Given the description of an element on the screen output the (x, y) to click on. 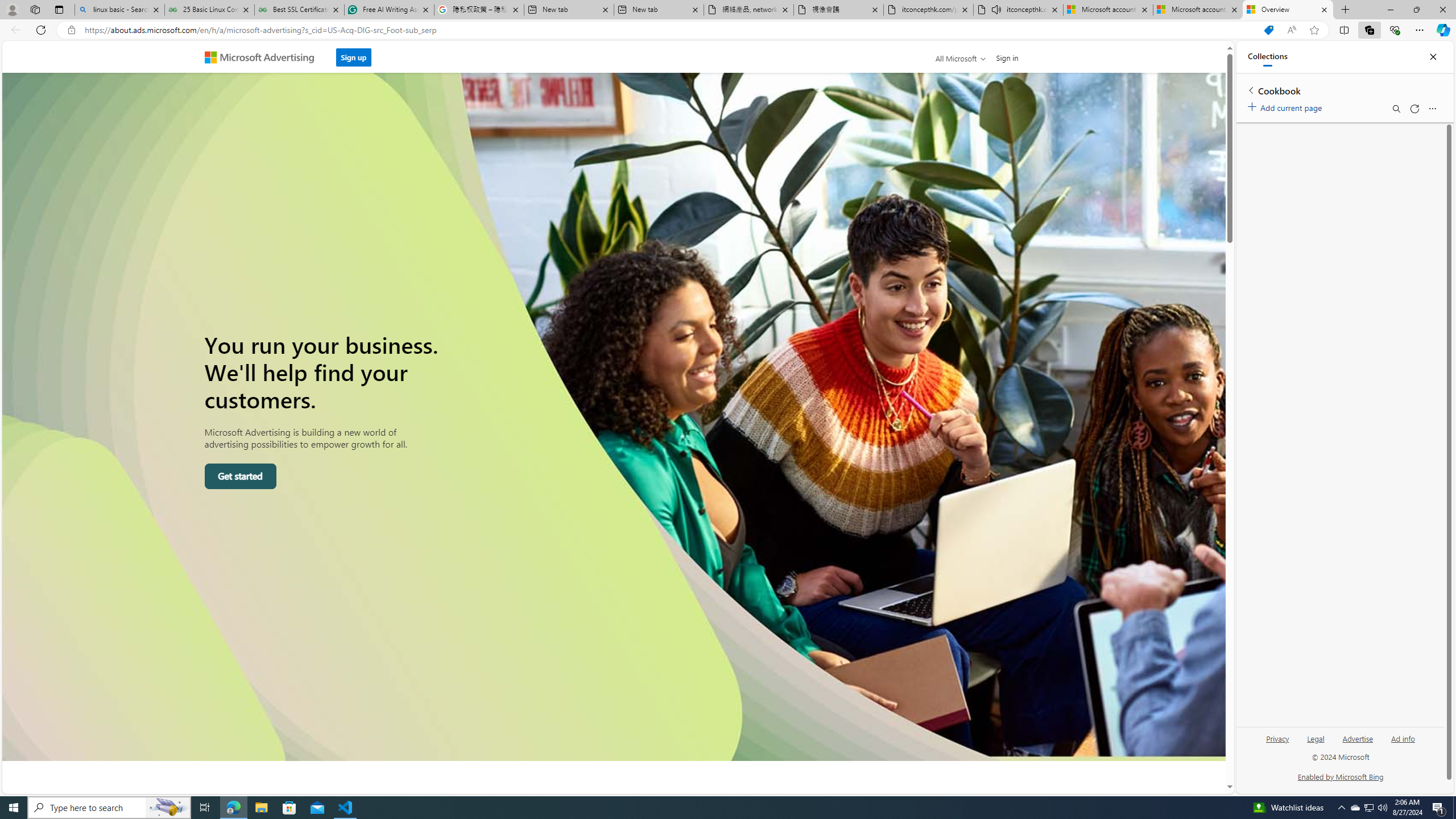
Overview (1287, 9)
More options menu (1432, 108)
25 Basic Linux Commands For Beginners - GeeksforGeeks (209, 9)
linux basic - Search (118, 9)
